Given the description of an element on the screen output the (x, y) to click on. 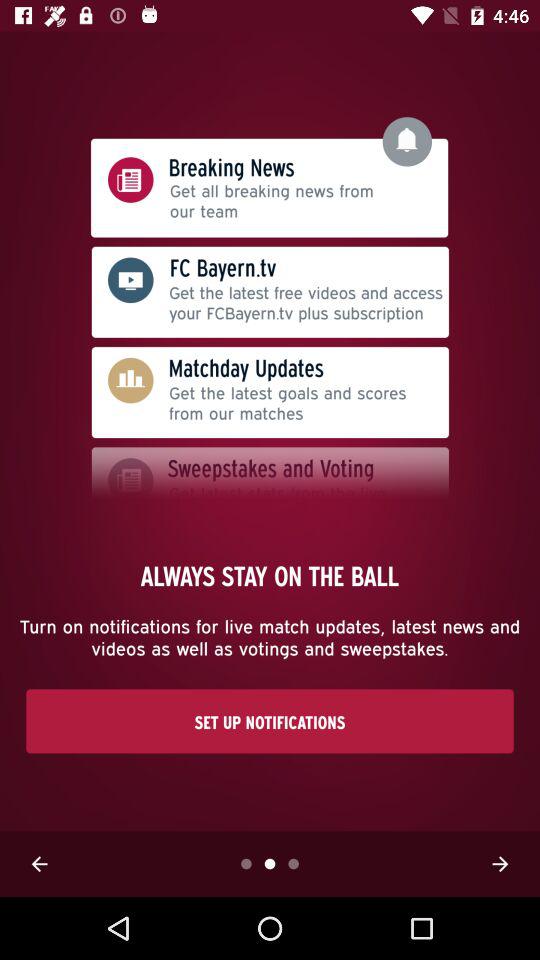
flip to set up notifications icon (269, 721)
